Given the description of an element on the screen output the (x, y) to click on. 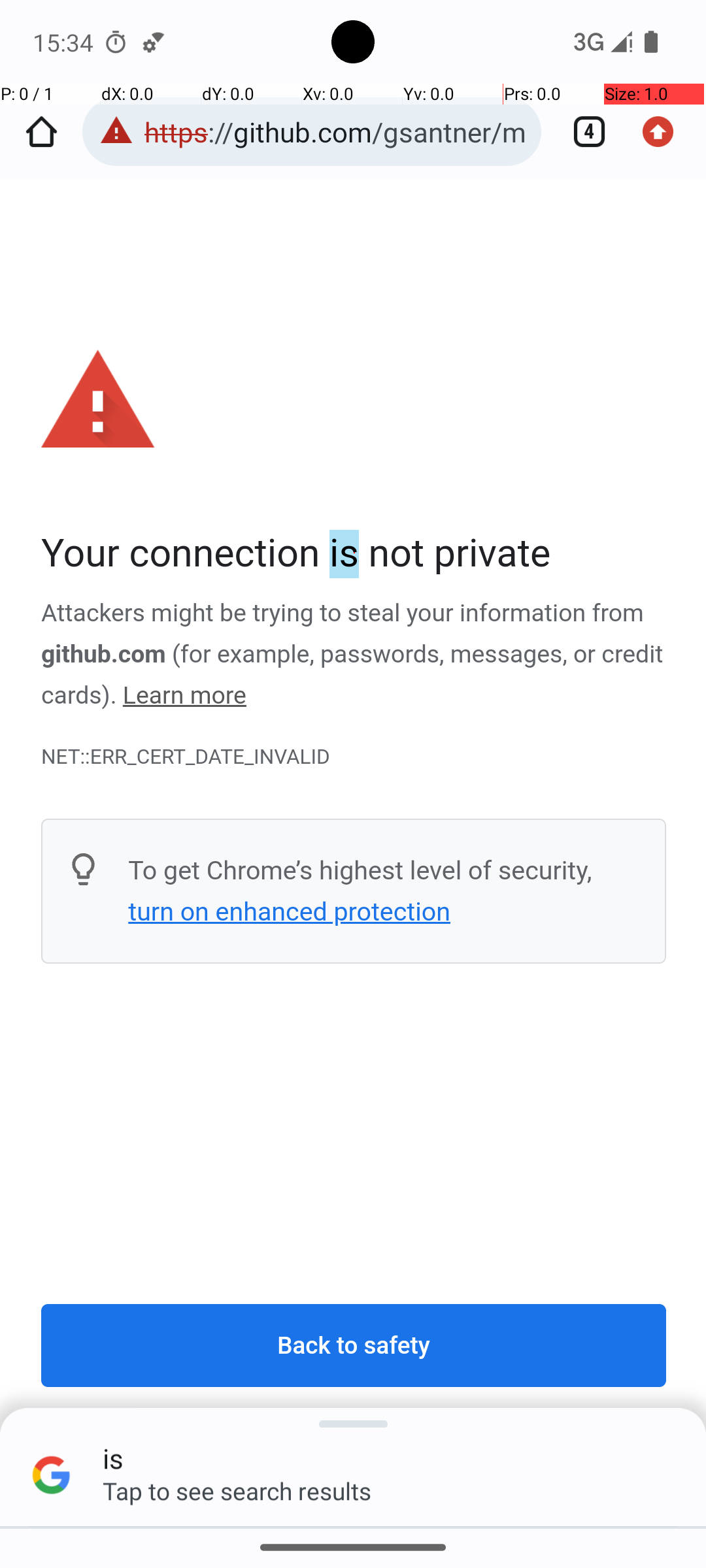
https://github.com/gsantner/markor/issues/new/choose Element type: android.widget.EditText (335, 131)
Update available. More options Element type: android.widget.ImageButton (664, 131)
